Given the description of an element on the screen output the (x, y) to click on. 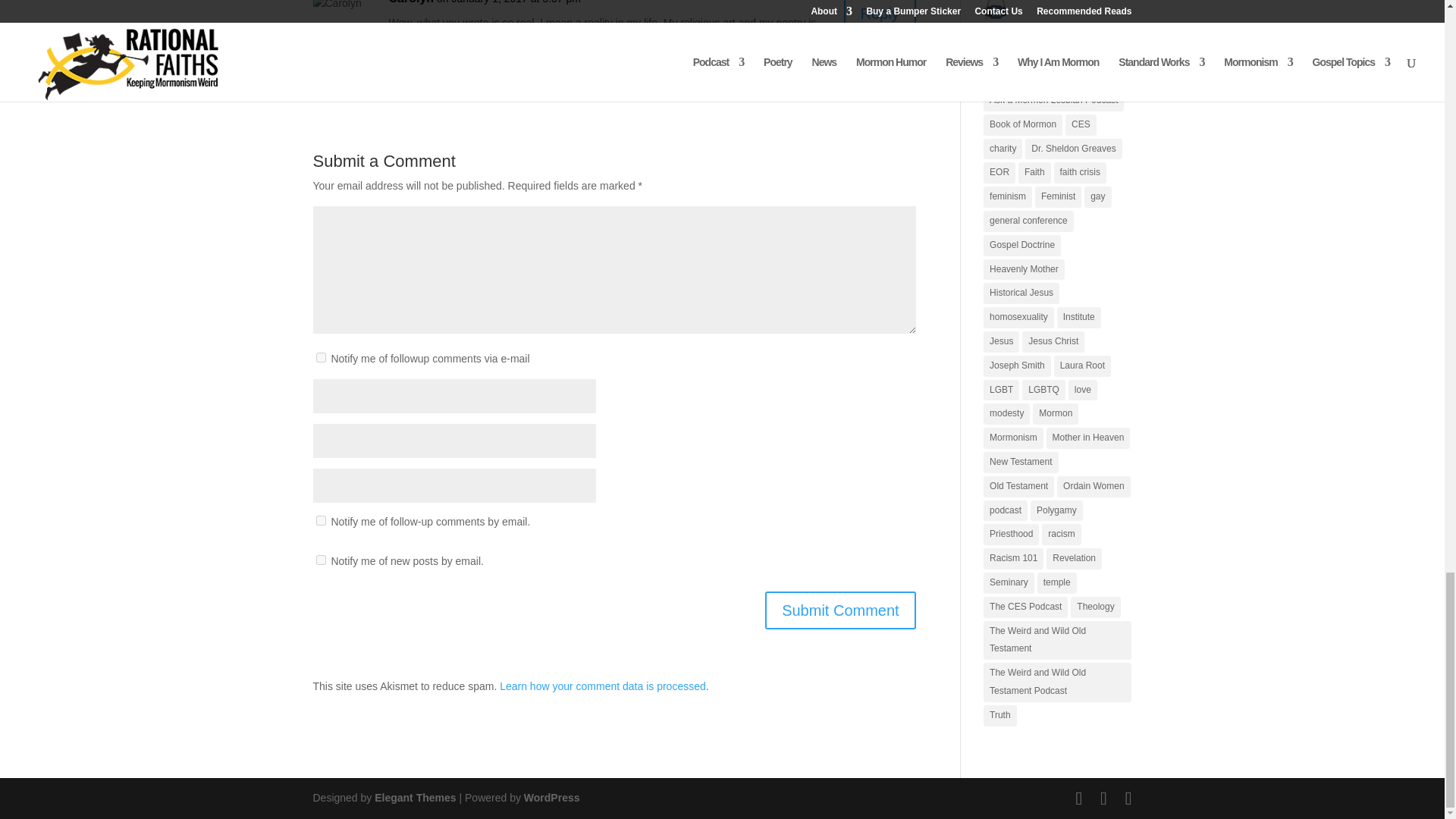
Follow Us on iTunes Podcast (995, 9)
Submit Comment (840, 610)
Premium WordPress Themes (414, 797)
subscribe (319, 520)
subscribe (319, 357)
subscribe (319, 560)
